Given the description of an element on the screen output the (x, y) to click on. 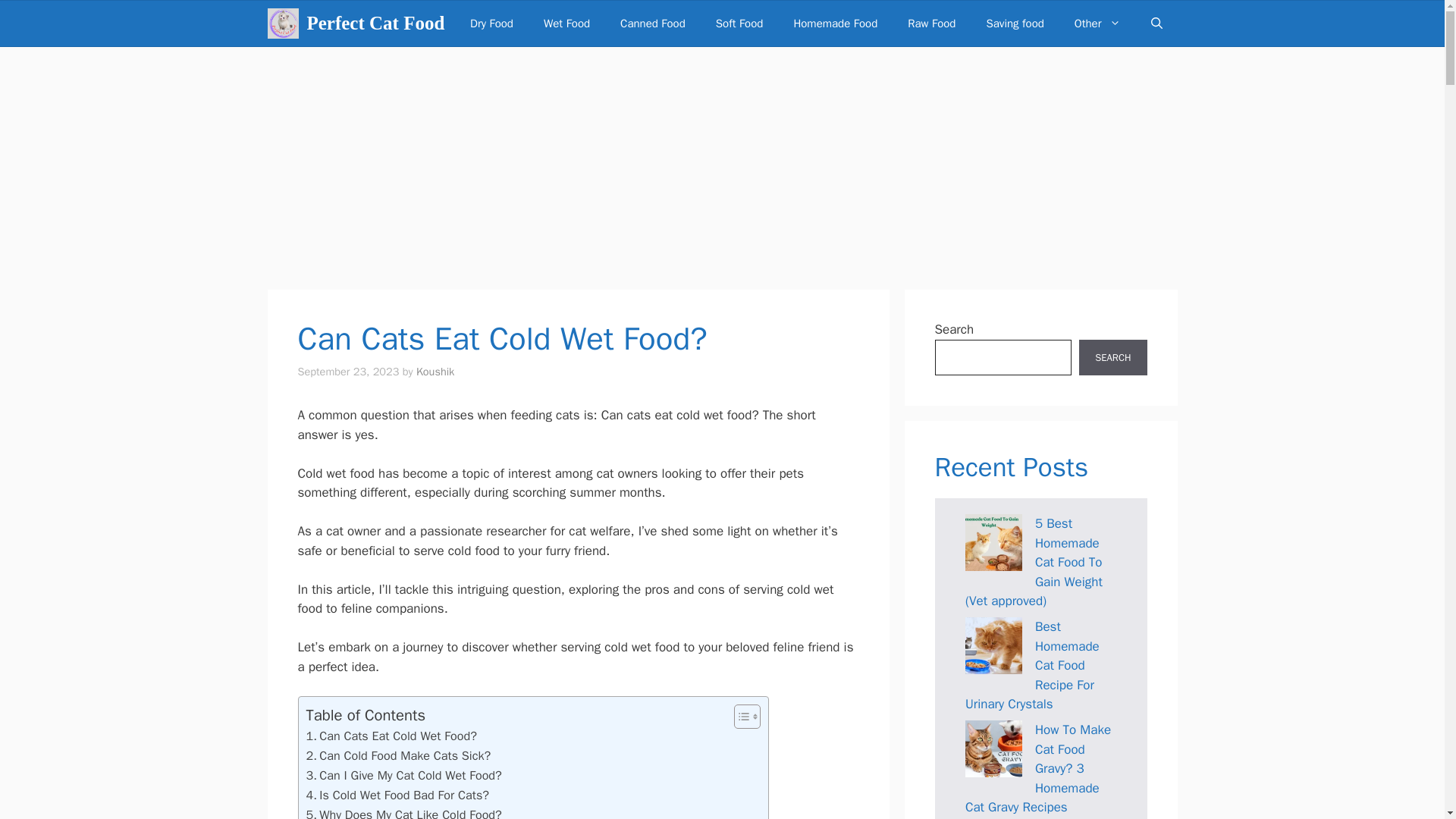
Dry Food (491, 22)
Homemade Food (834, 22)
Can I Give My Cat Cold Wet Food? (403, 775)
Is Cold Wet Food Bad For Cats? (397, 795)
Can Cats Eat Cold Wet Food? (391, 736)
Soft Food (739, 22)
Is Cold Wet Food Bad For Cats? (397, 795)
Can I Give My Cat Cold Wet Food? (403, 775)
Saving food (1014, 22)
Raw Food (931, 22)
